Given the description of an element on the screen output the (x, y) to click on. 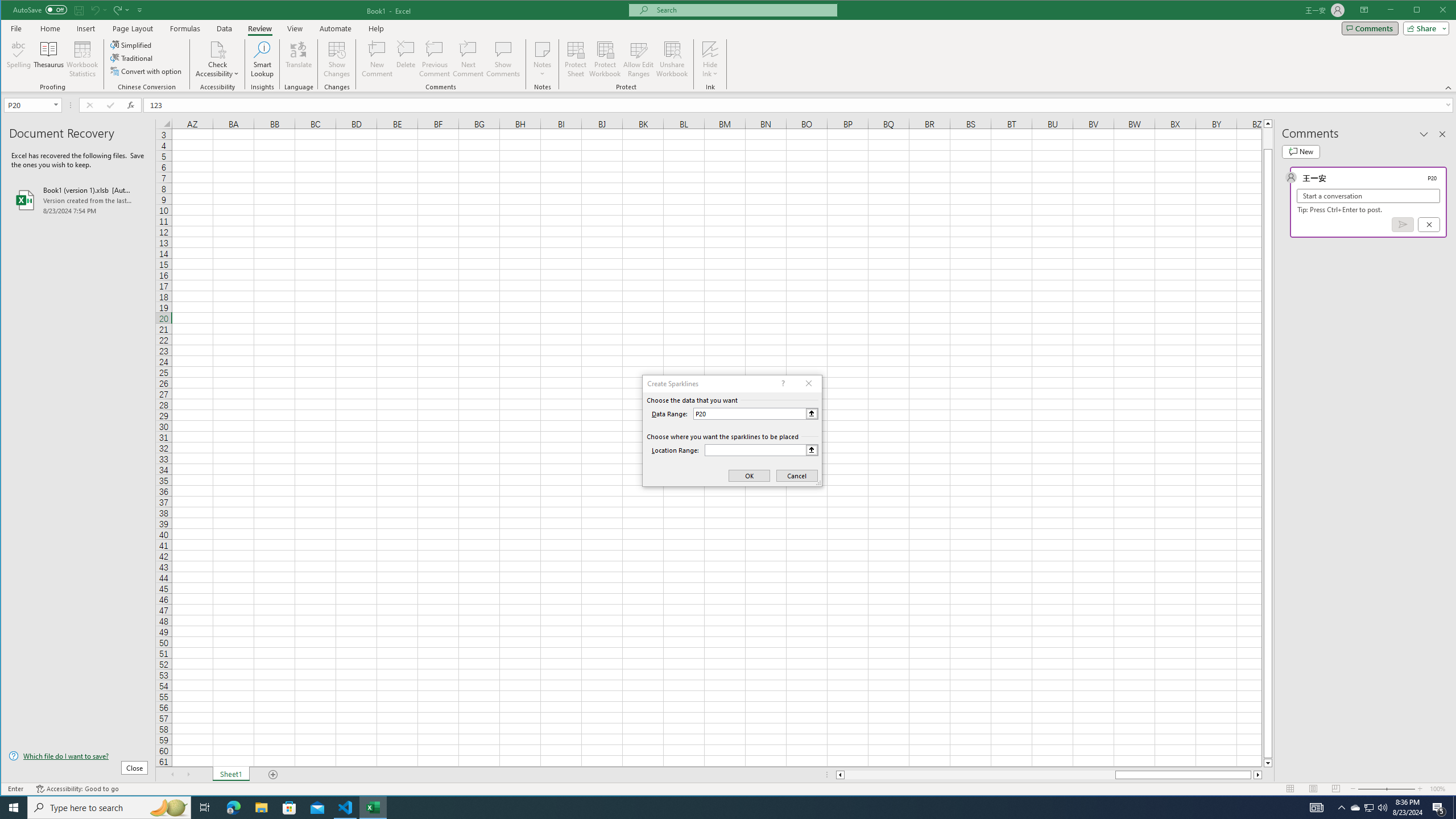
Protect Workbook... (604, 59)
Thesaurus... (48, 59)
Show Comments (502, 59)
